Given the description of an element on the screen output the (x, y) to click on. 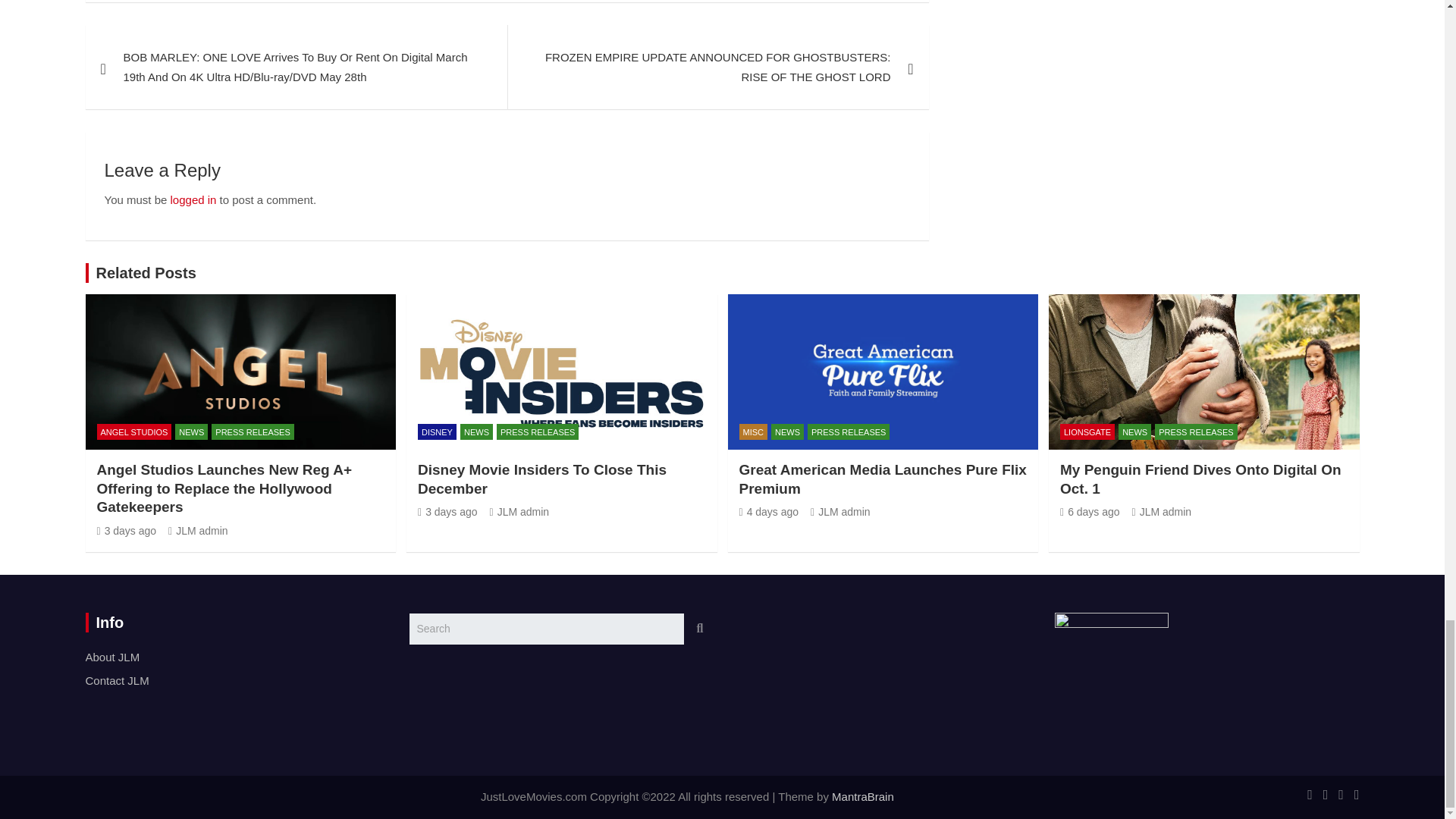
6 days ago (1089, 511)
logged in (193, 199)
3 days ago (127, 530)
MantraBrain (862, 796)
4 days ago (767, 511)
3 days ago (447, 511)
